Given the description of an element on the screen output the (x, y) to click on. 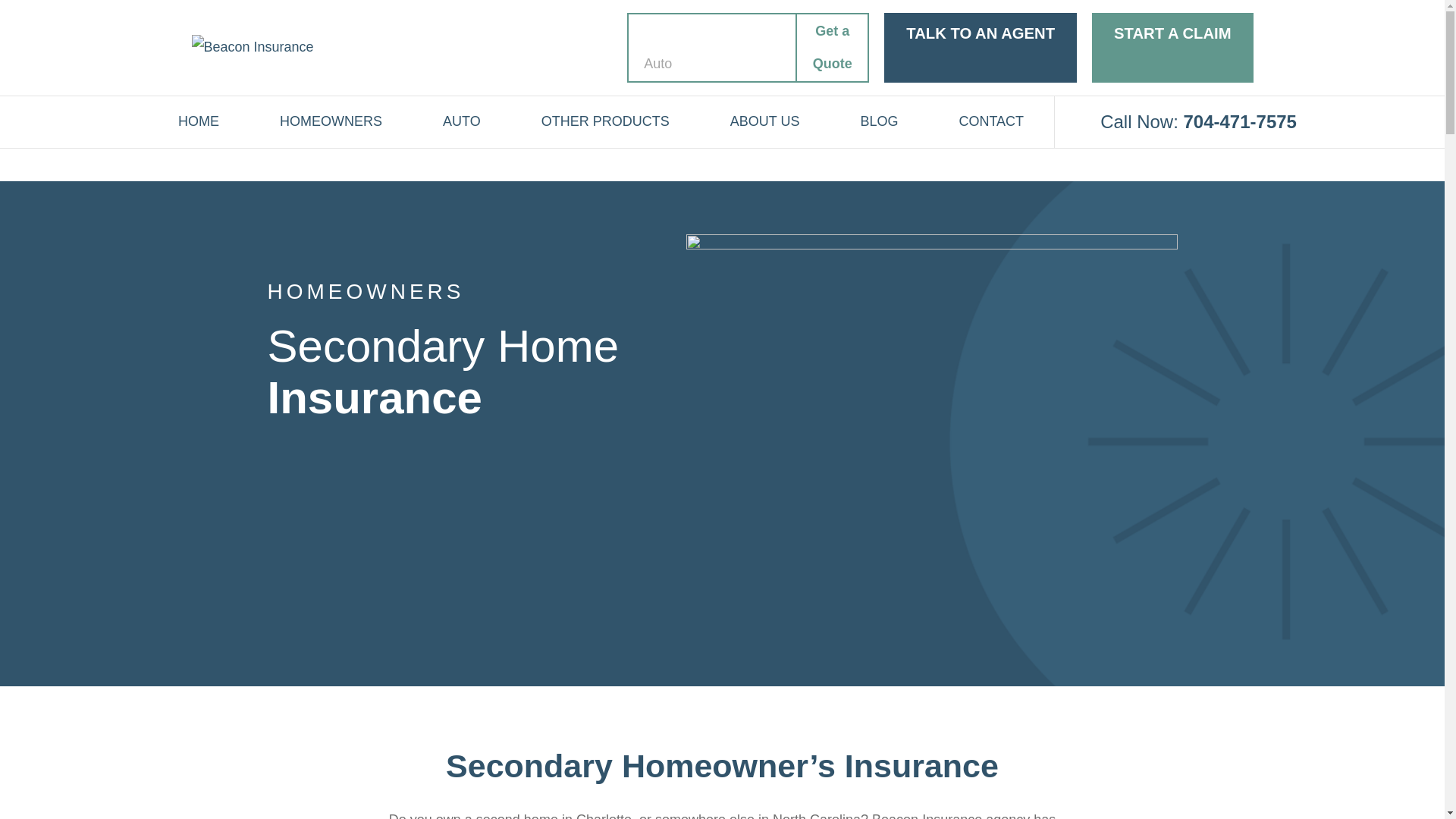
AUTO (461, 120)
704-471-7575 (1238, 121)
BLOG (879, 120)
HOME (198, 120)
HOMEOWNERS (330, 120)
Get a Quote (830, 47)
TALK TO AN AGENT (980, 47)
OTHER PRODUCTS (605, 120)
START A CLAIM (1172, 47)
CONTACT (990, 120)
Select-form (748, 47)
ABOUT US (764, 120)
